Given the description of an element on the screen output the (x, y) to click on. 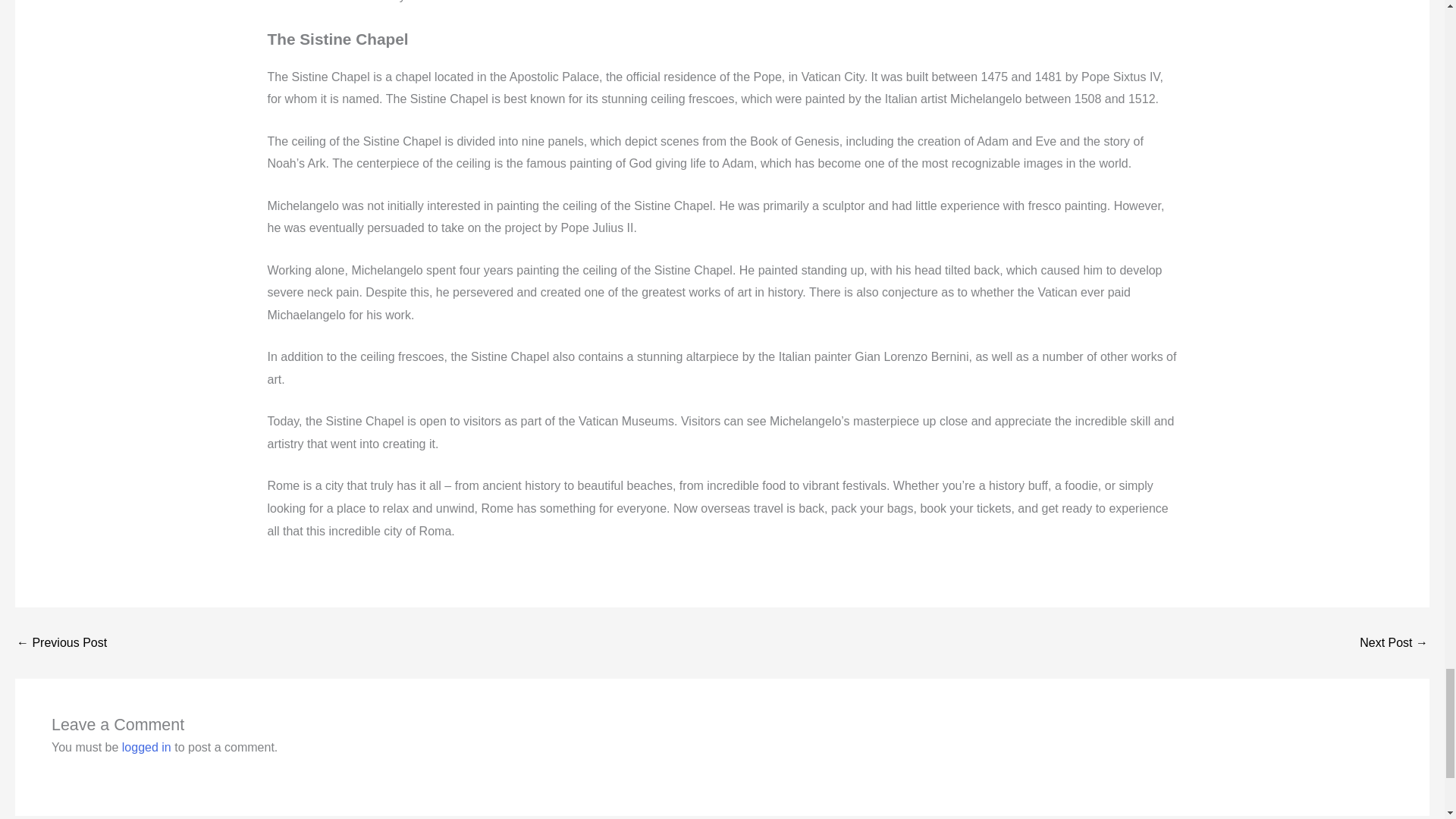
11 Top Gardens You Must Visit in Paris (61, 643)
logged in (146, 747)
20 Top Tips When Traveling (1393, 643)
